Given the description of an element on the screen output the (x, y) to click on. 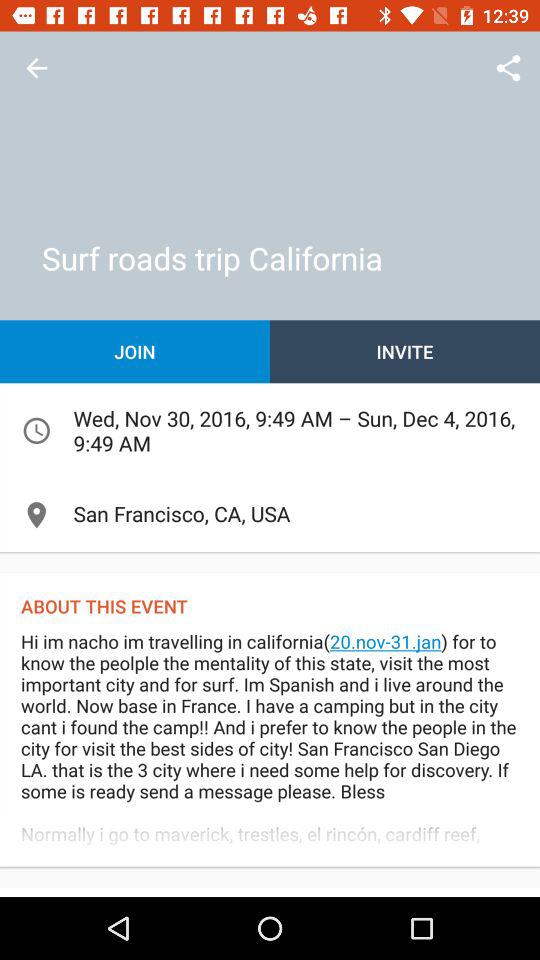
click item to the left of the invite icon (135, 351)
